Given the description of an element on the screen output the (x, y) to click on. 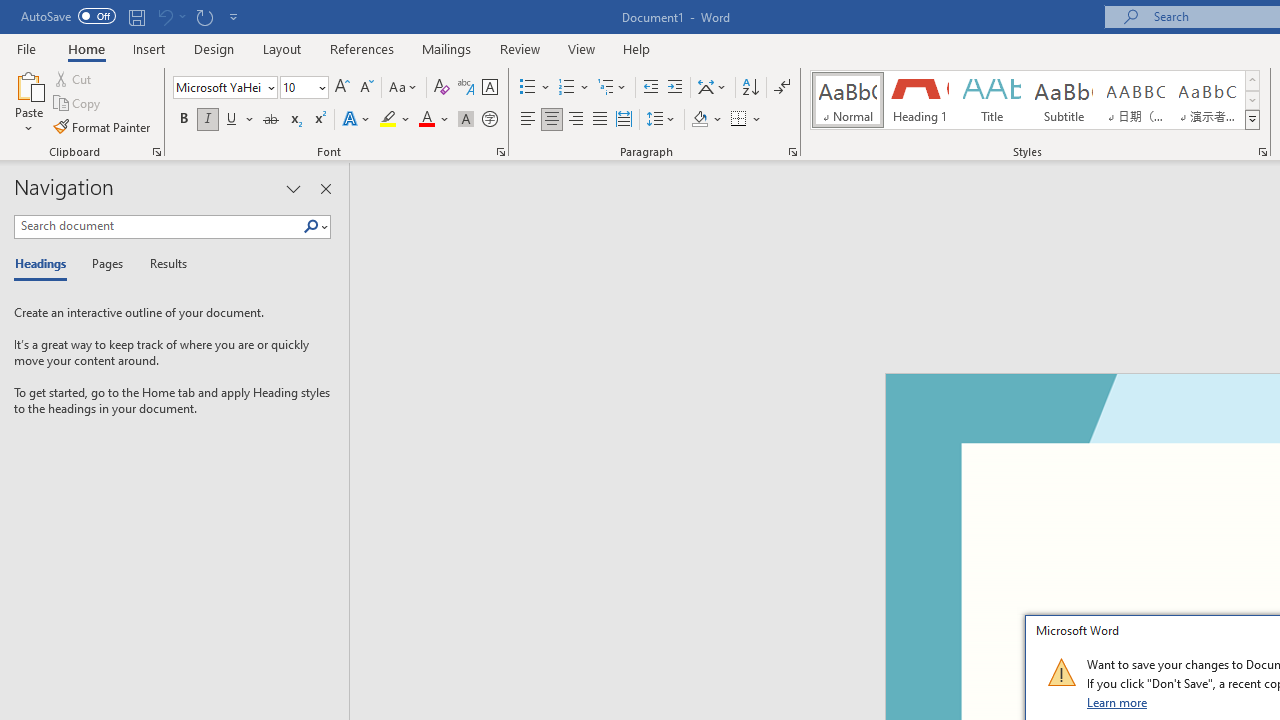
Enclose Characters... (489, 119)
Sort... (750, 87)
Phonetic Guide... (465, 87)
Paste (28, 84)
Title (991, 100)
Font Size (297, 87)
Insert (149, 48)
Help (637, 48)
Results (161, 264)
Customize Quick Access Toolbar (234, 15)
Numbering (566, 87)
Task Pane Options (293, 188)
Can't Undo (170, 15)
Justify (599, 119)
Close pane (325, 188)
